Given the description of an element on the screen output the (x, y) to click on. 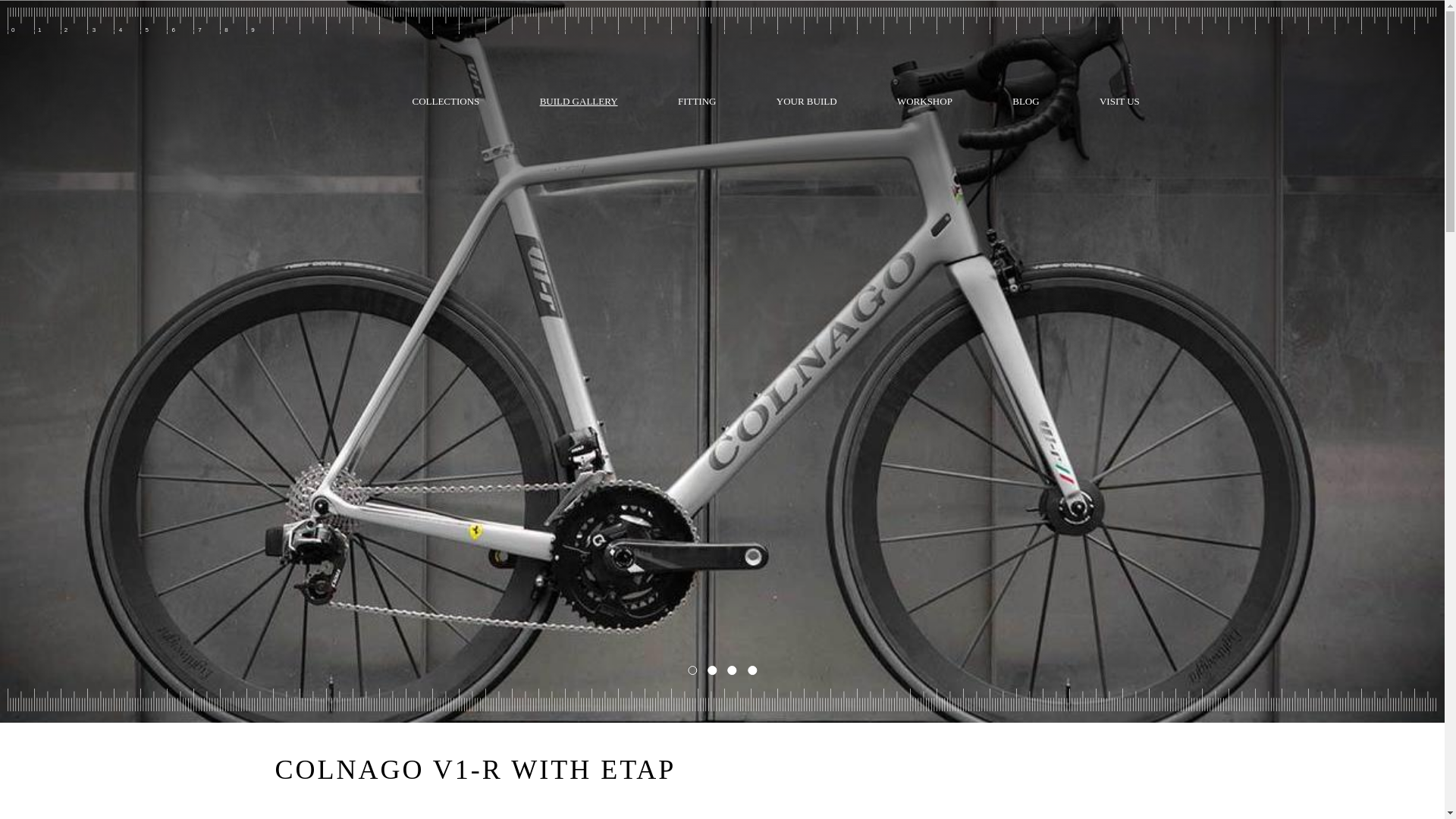
COLLECTIONS (445, 100)
YOUR BUILD (805, 100)
BUILD GALLERY (578, 100)
FITTING (696, 100)
WORKSHOP (923, 100)
VISIT US (1118, 100)
BLOG (1026, 100)
